Given the description of an element on the screen output the (x, y) to click on. 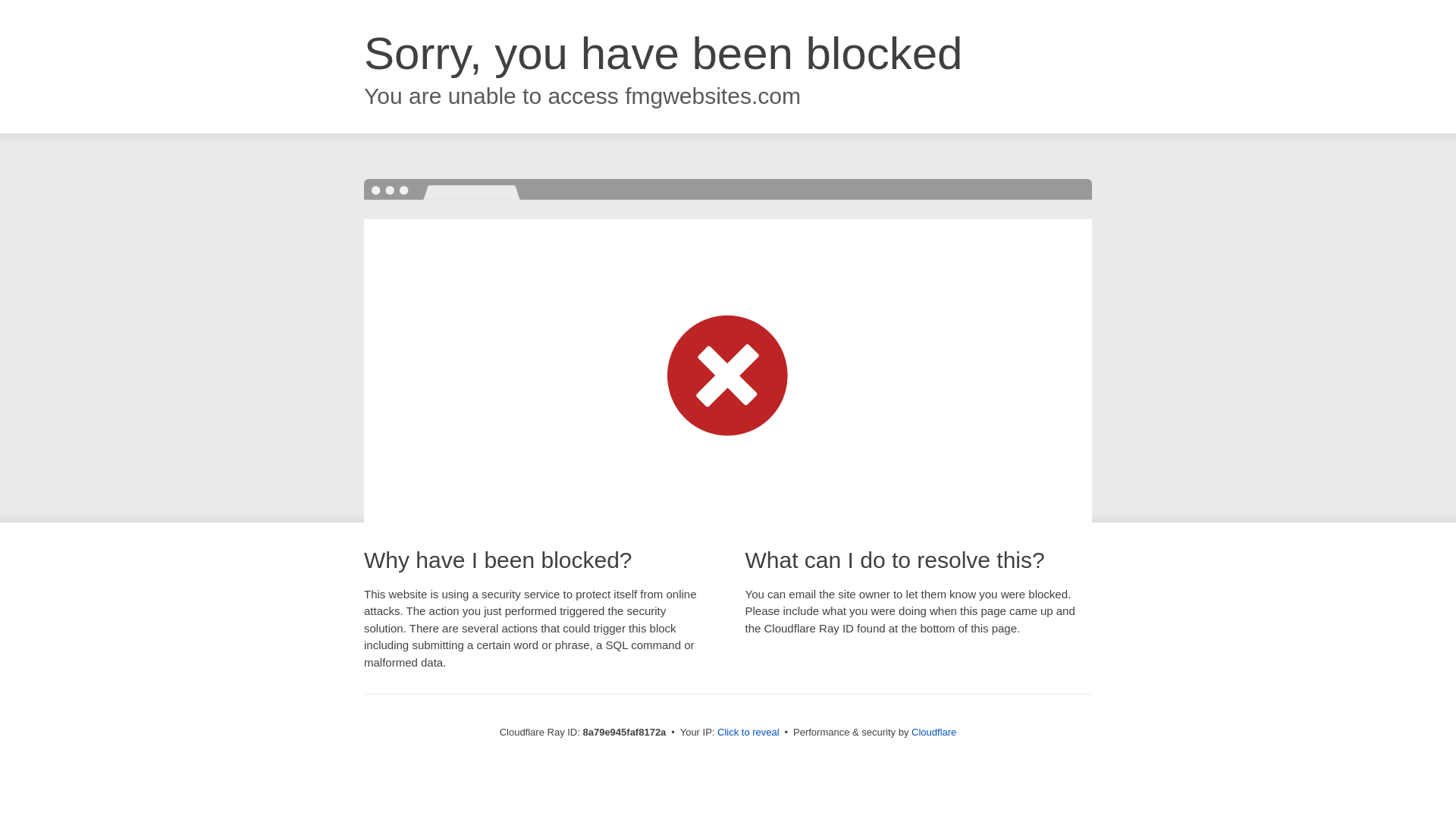
Cloudflare (933, 731)
Click to reveal (747, 732)
